Given the description of an element on the screen output the (x, y) to click on. 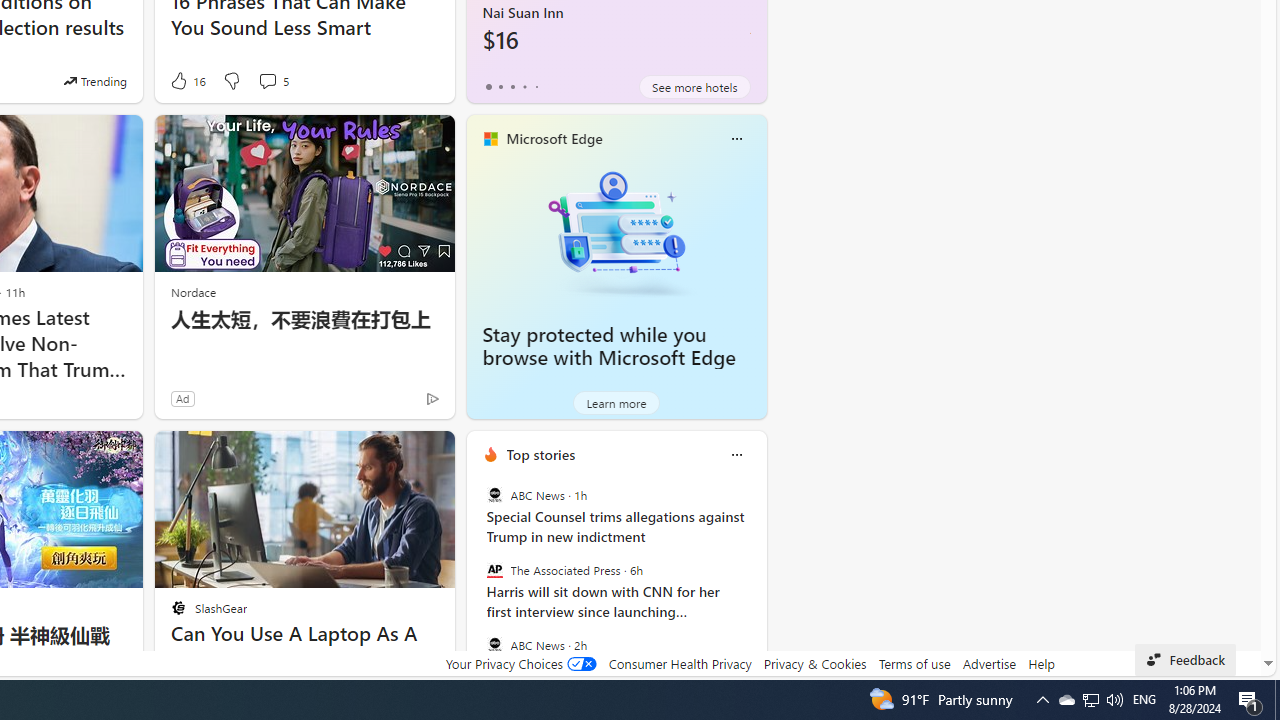
Microsoft Edge (553, 139)
next (756, 583)
tab-1 (500, 86)
Stay protected while you browse with Microsoft Edge (616, 232)
16 Like (186, 80)
Privacy & Cookies (814, 663)
Hide this story (393, 454)
previous (476, 583)
Terms of use (914, 663)
